Given the description of an element on the screen output the (x, y) to click on. 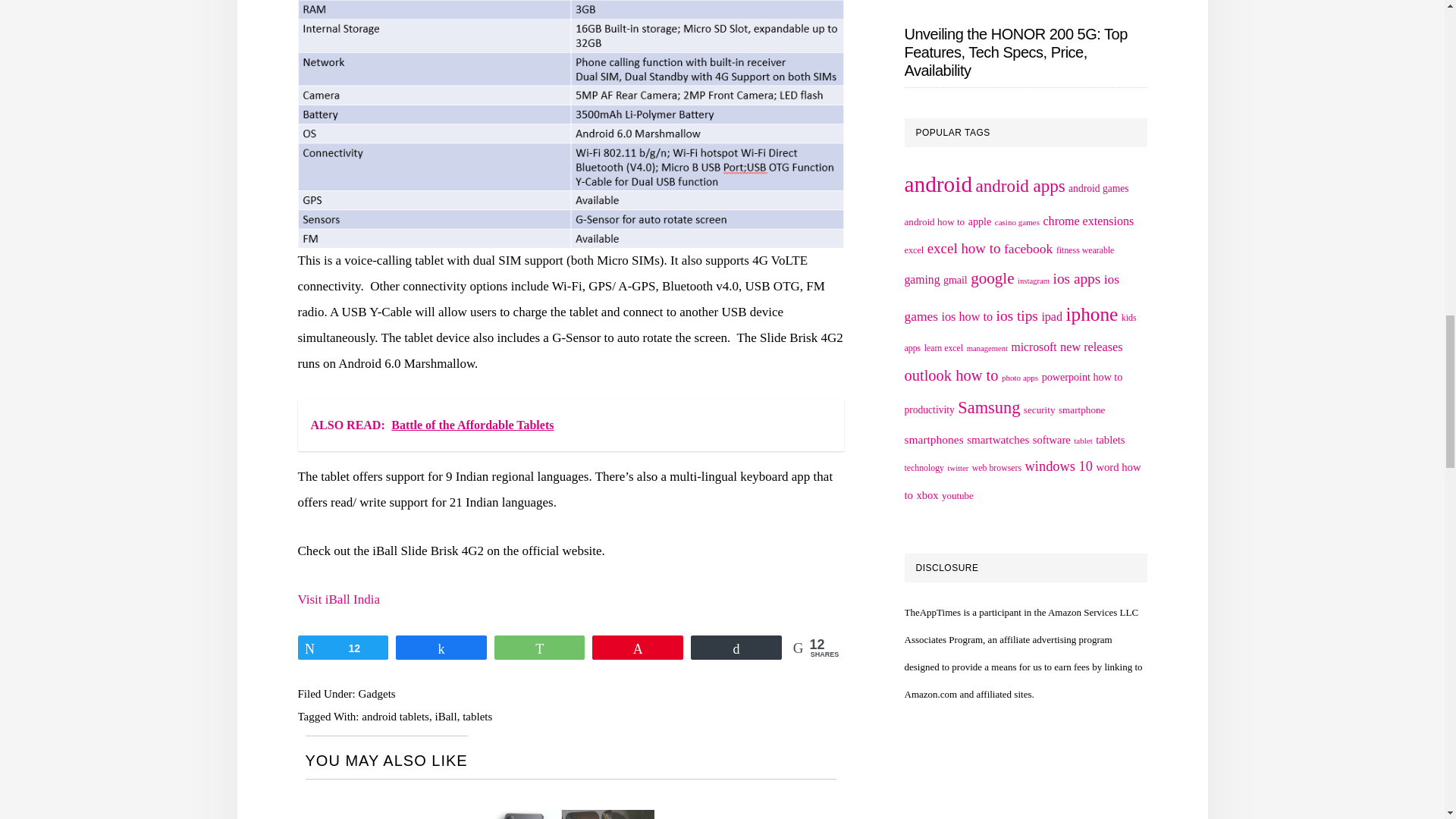
12 (343, 647)
ALSO READ:  Battle of the Affordable Tablets (570, 425)
android tablets (395, 716)
iBall (445, 716)
Gadgets (376, 693)
tablets (477, 716)
Visit iBall India (338, 599)
